Given the description of an element on the screen output the (x, y) to click on. 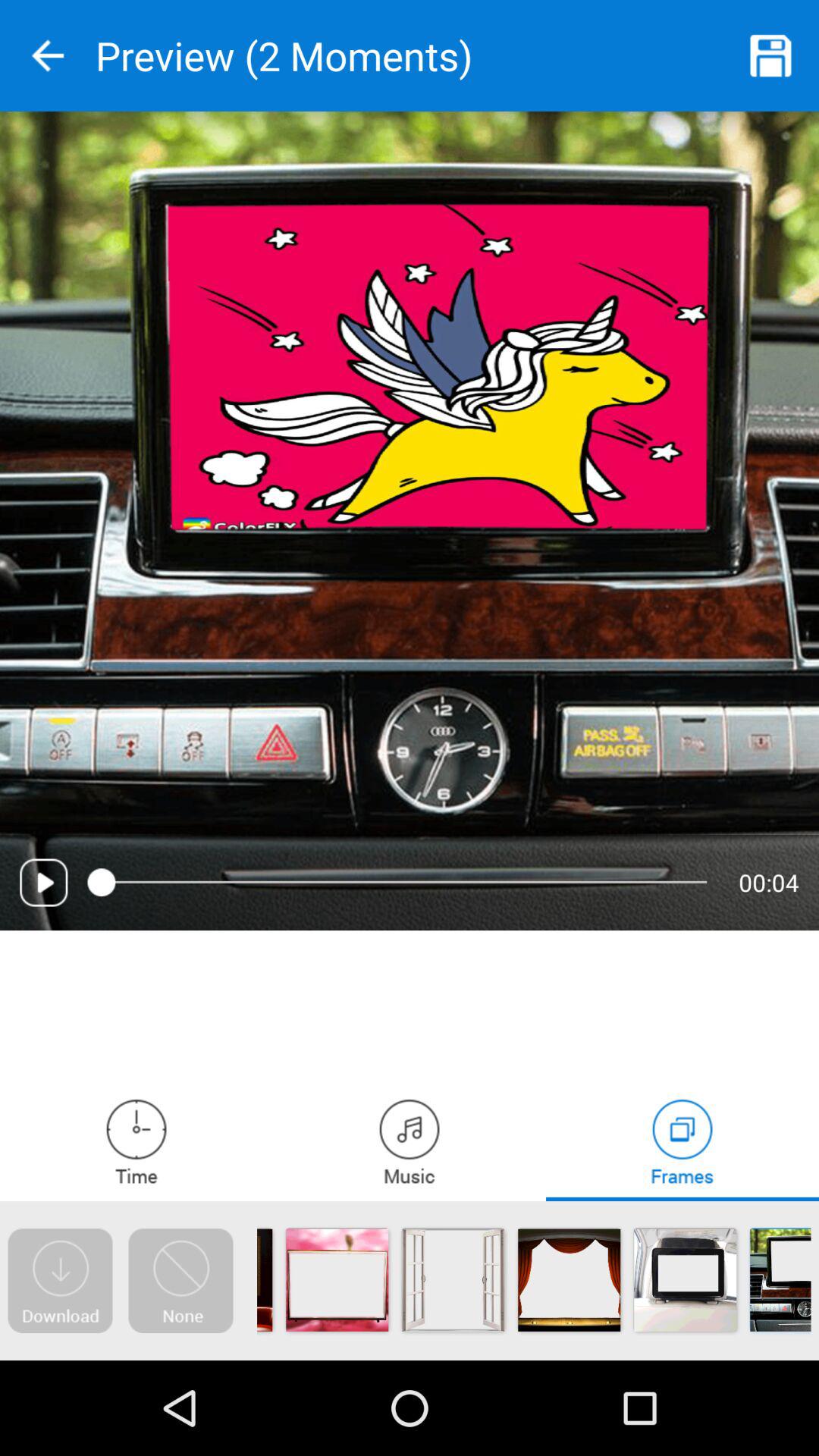
play media (43, 882)
